Given the description of an element on the screen output the (x, y) to click on. 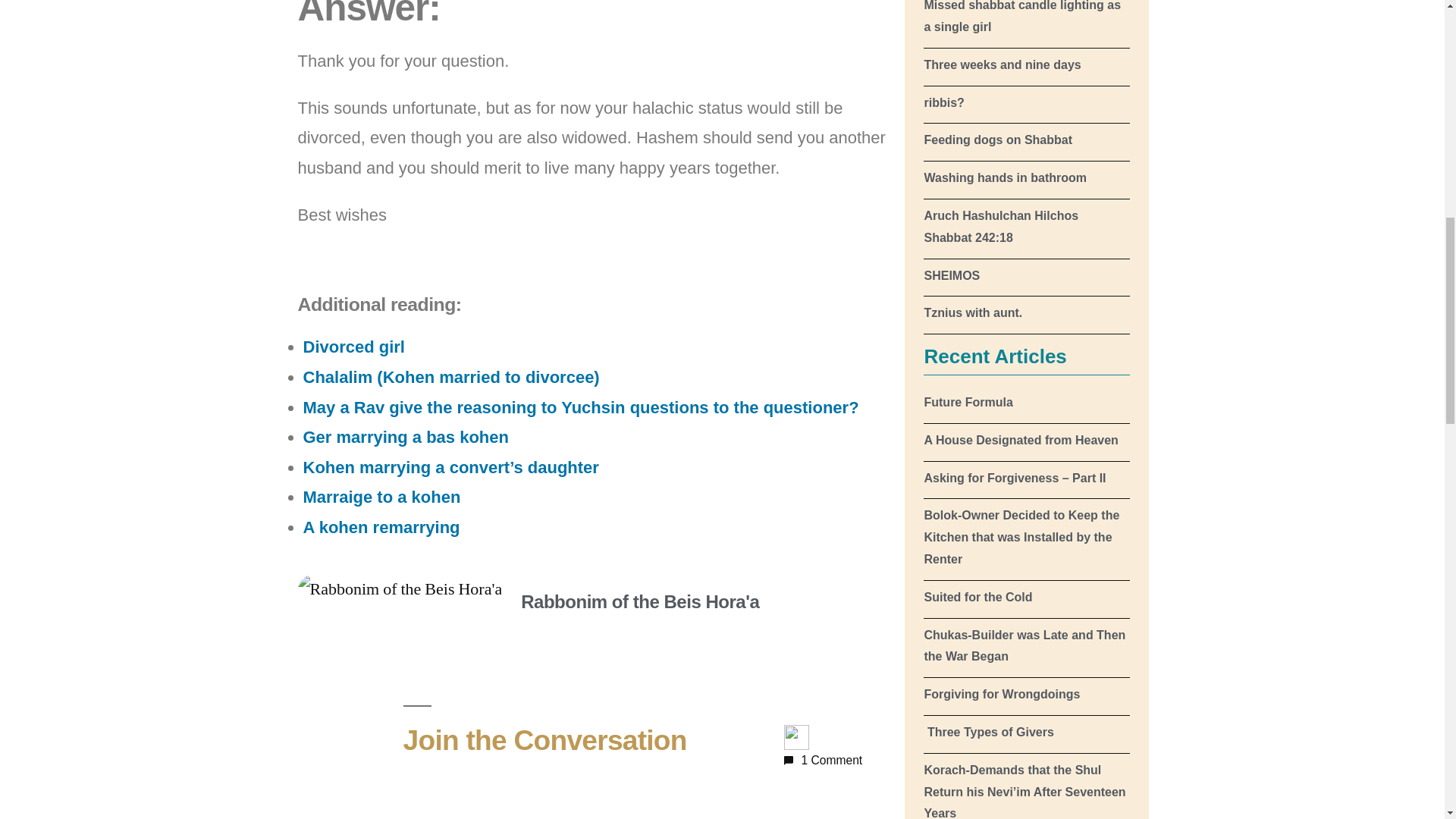
Ger marrying a bas kohen (405, 436)
Divorced girl (353, 346)
A kohen remarrying (381, 527)
Divorced girl (353, 346)
A kohen remarrying (381, 527)
Ger marrying a bas kohen (405, 436)
Marraige to a kohen (381, 496)
Marraige to a kohen (381, 496)
